Given the description of an element on the screen output the (x, y) to click on. 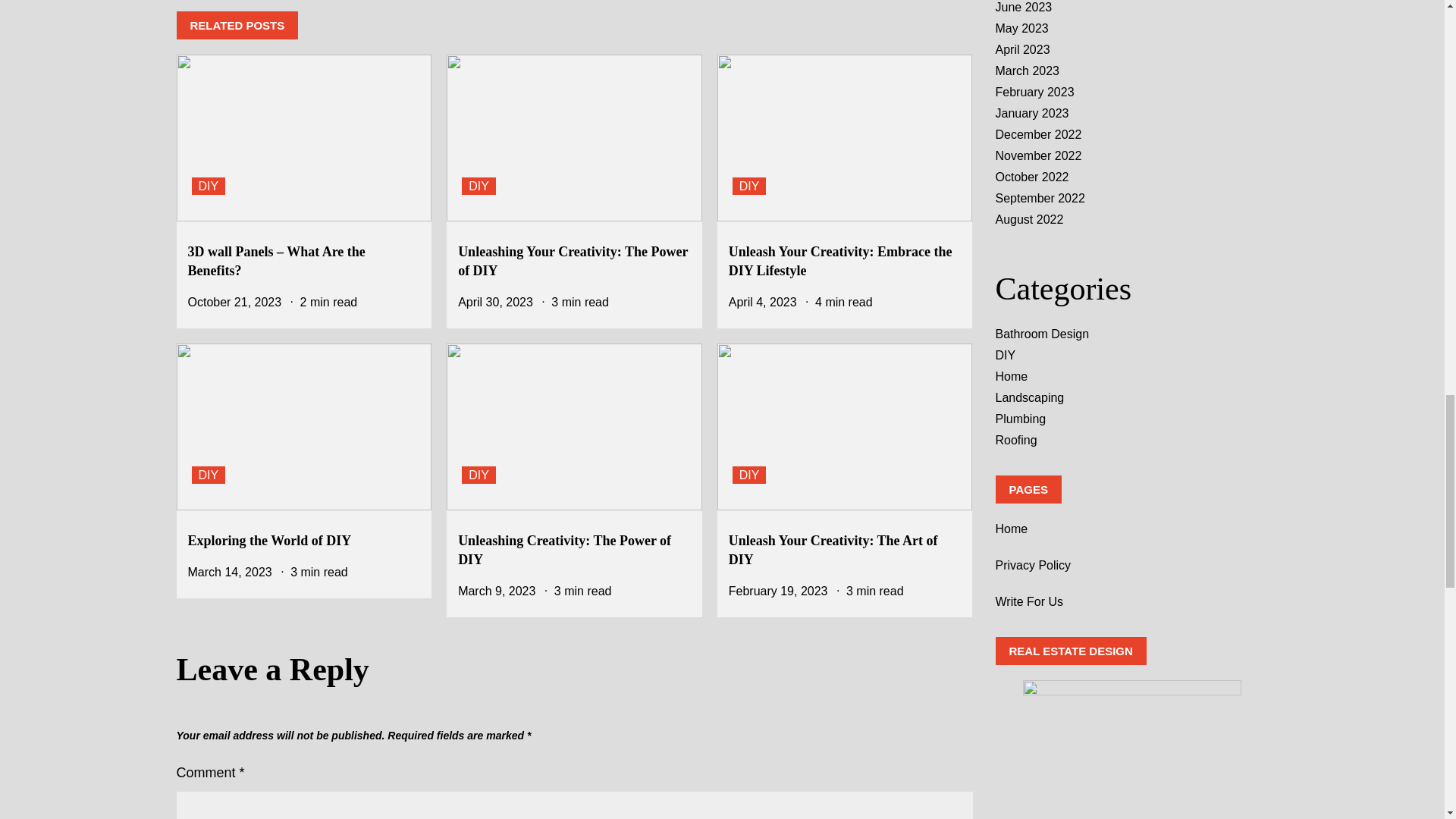
DIY (478, 185)
Exploring the World of DIY (269, 540)
DIY (207, 475)
DIY (749, 185)
April 4, 2023 (762, 301)
Unleash Your Creativity: Embrace the DIY Lifestyle (840, 261)
Unleashing Your Creativity: The Power of DIY (572, 261)
March 14, 2023 (229, 571)
April 30, 2023 (495, 301)
October 21, 2023 (234, 301)
